Given the description of an element on the screen output the (x, y) to click on. 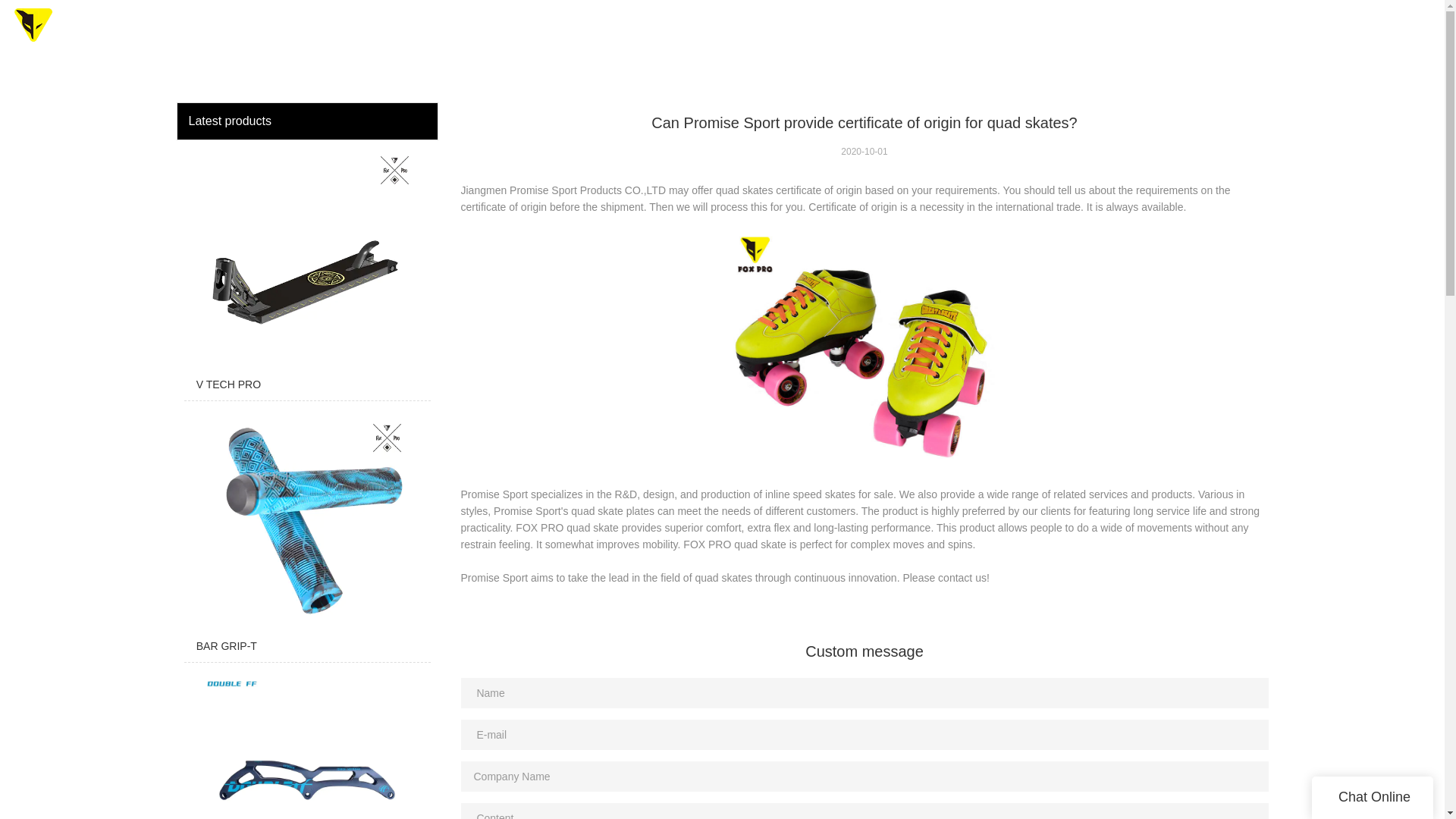
VIDEO (1052, 30)
INFORMATIONS (1232, 30)
OUR ADVANTAGES (958, 30)
ABOUT US (1127, 30)
HOME (725, 30)
OEM (780, 30)
PRODUCT (850, 30)
